Given the description of an element on the screen output the (x, y) to click on. 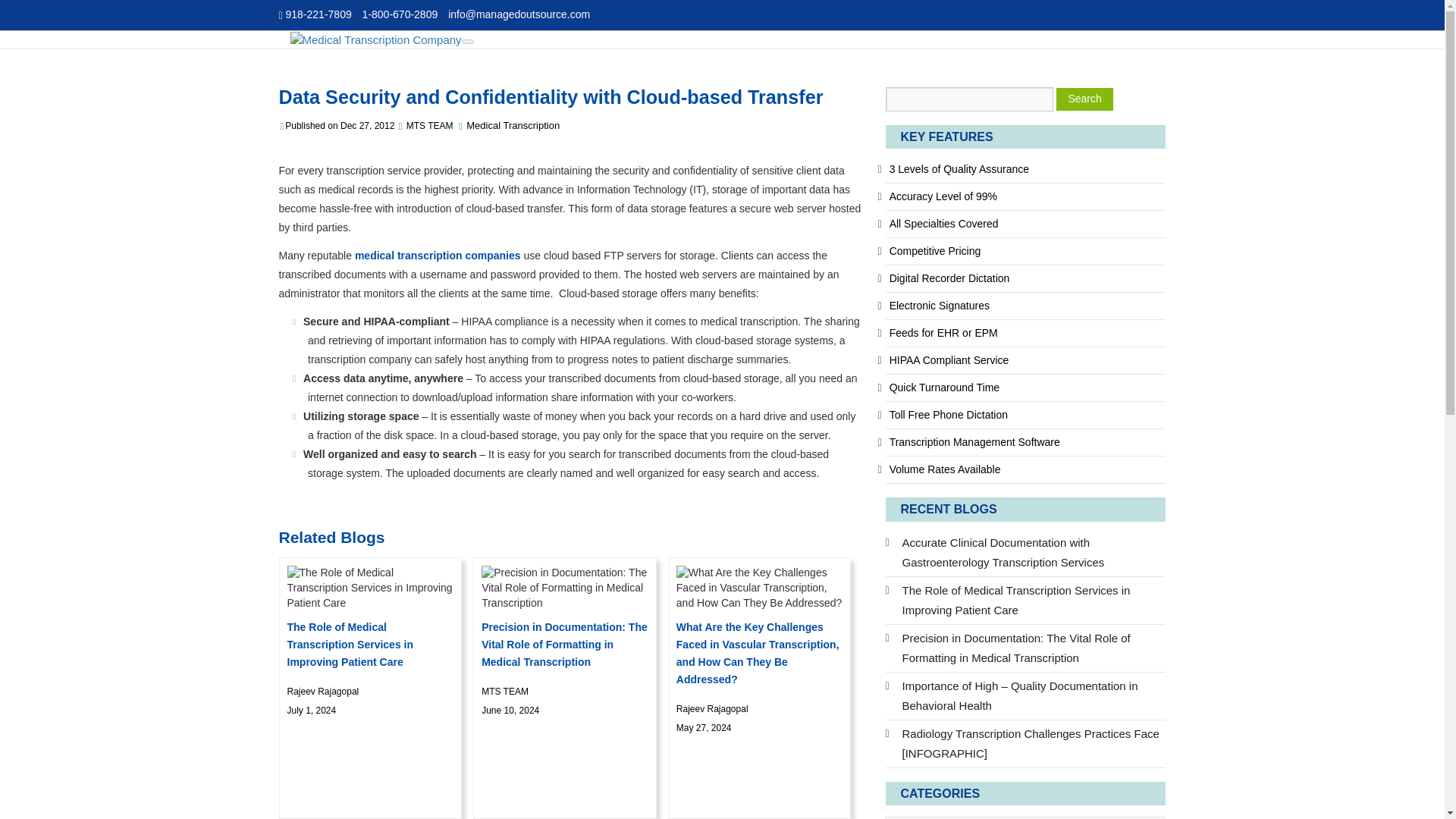
Search (1084, 98)
Skip to content (307, 47)
Medical Transcription (512, 125)
Medical Transcription Companies (438, 255)
medical transcription companies (438, 255)
918-221-7809 (315, 14)
Search (1084, 98)
Skip to content (307, 47)
1-800-670-2809 (400, 14)
